Given the description of an element on the screen output the (x, y) to click on. 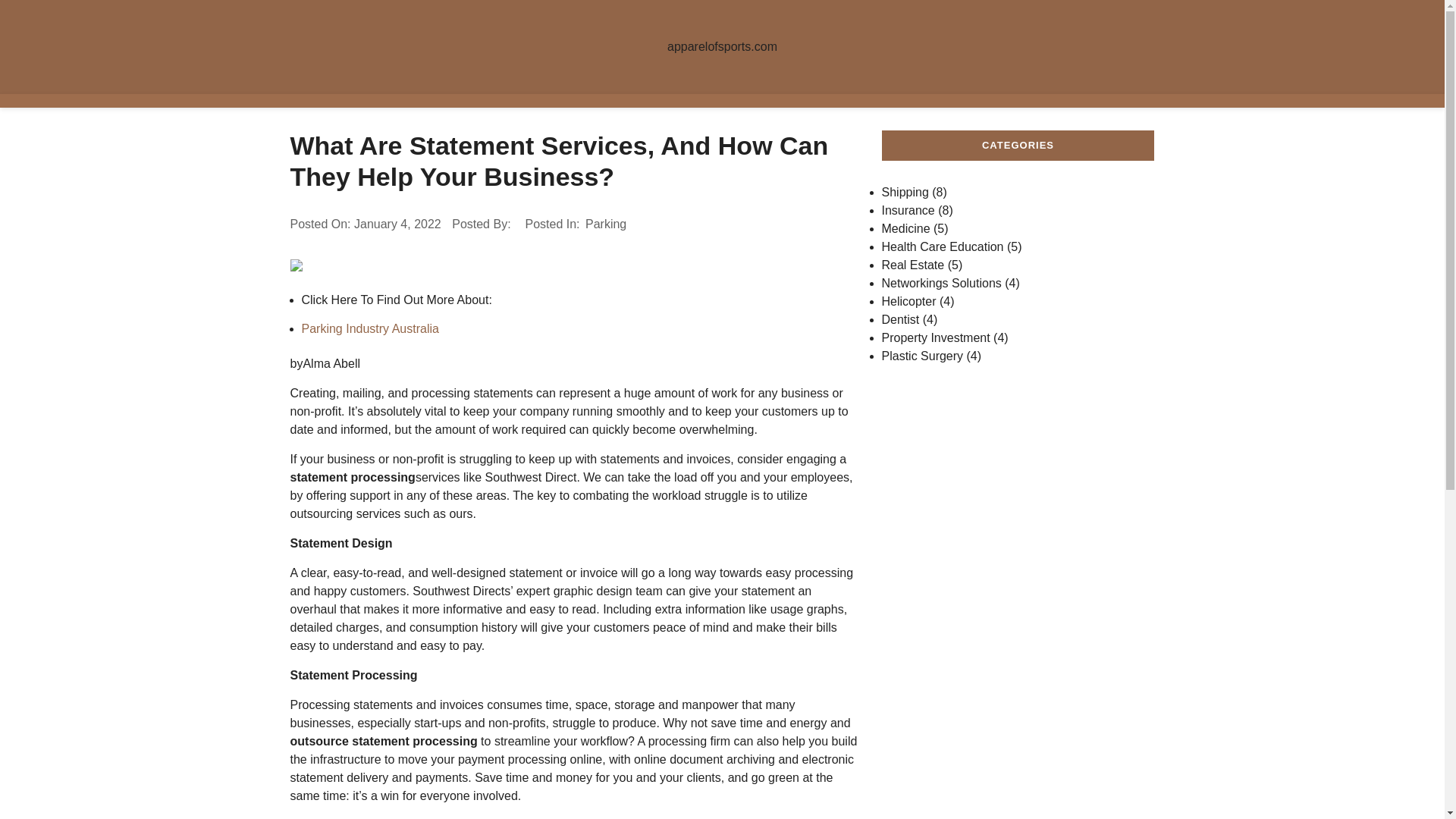
January 4, 2022 (397, 224)
apparelofsports.com (721, 46)
Parking Industry Australia (370, 328)
Parking (605, 224)
